Given the description of an element on the screen output the (x, y) to click on. 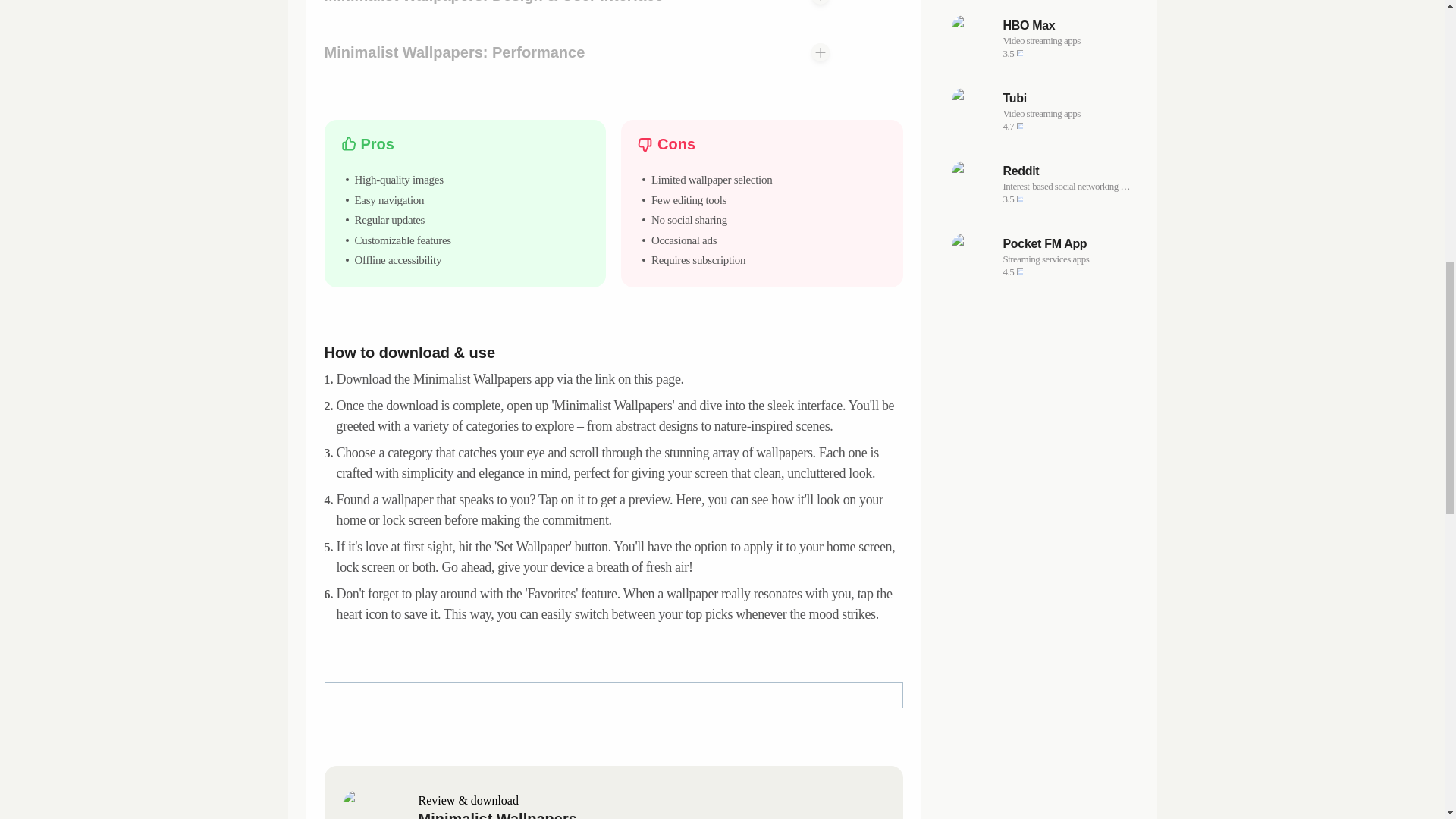
Pocket FM App (1067, 243)
Interest-based social networking apps (1067, 186)
Video streaming apps (1041, 183)
Minimalist Wallpapers: Performance (1067, 113)
Reddit (582, 52)
Video streaming apps (1067, 170)
HBO Max (1041, 256)
